Given the description of an element on the screen output the (x, y) to click on. 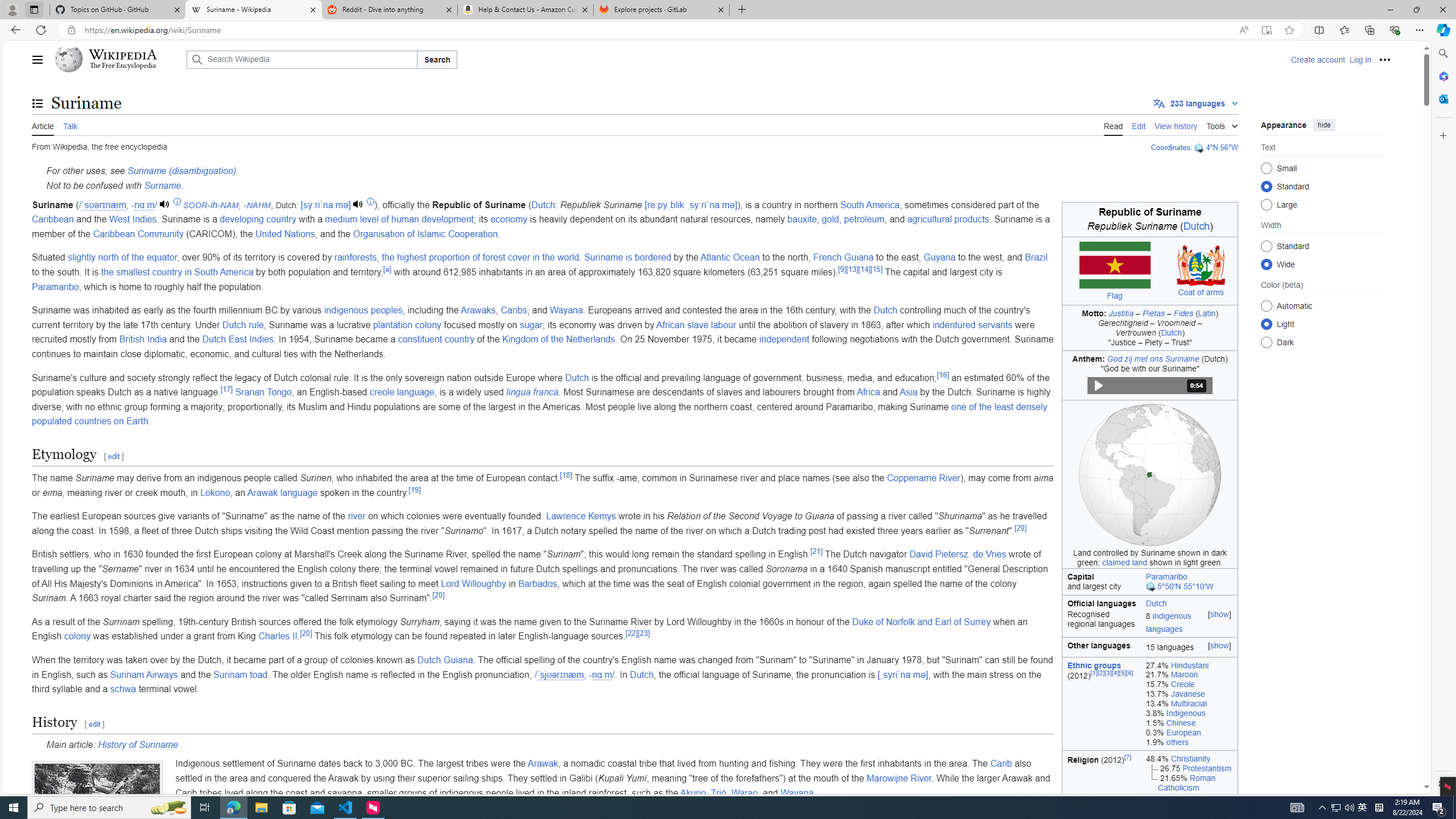
Surinam Airways (144, 674)
[14] (863, 268)
[15] (876, 268)
river (356, 516)
Fides (1183, 312)
Indigenous (1185, 713)
[5] (1122, 672)
[20] (305, 632)
Marowijne River (898, 777)
Flag of Suriname (1114, 264)
the smallest country in South America (176, 271)
agricultural products (948, 219)
Class: mergedrow (1149, 623)
